Given the description of an element on the screen output the (x, y) to click on. 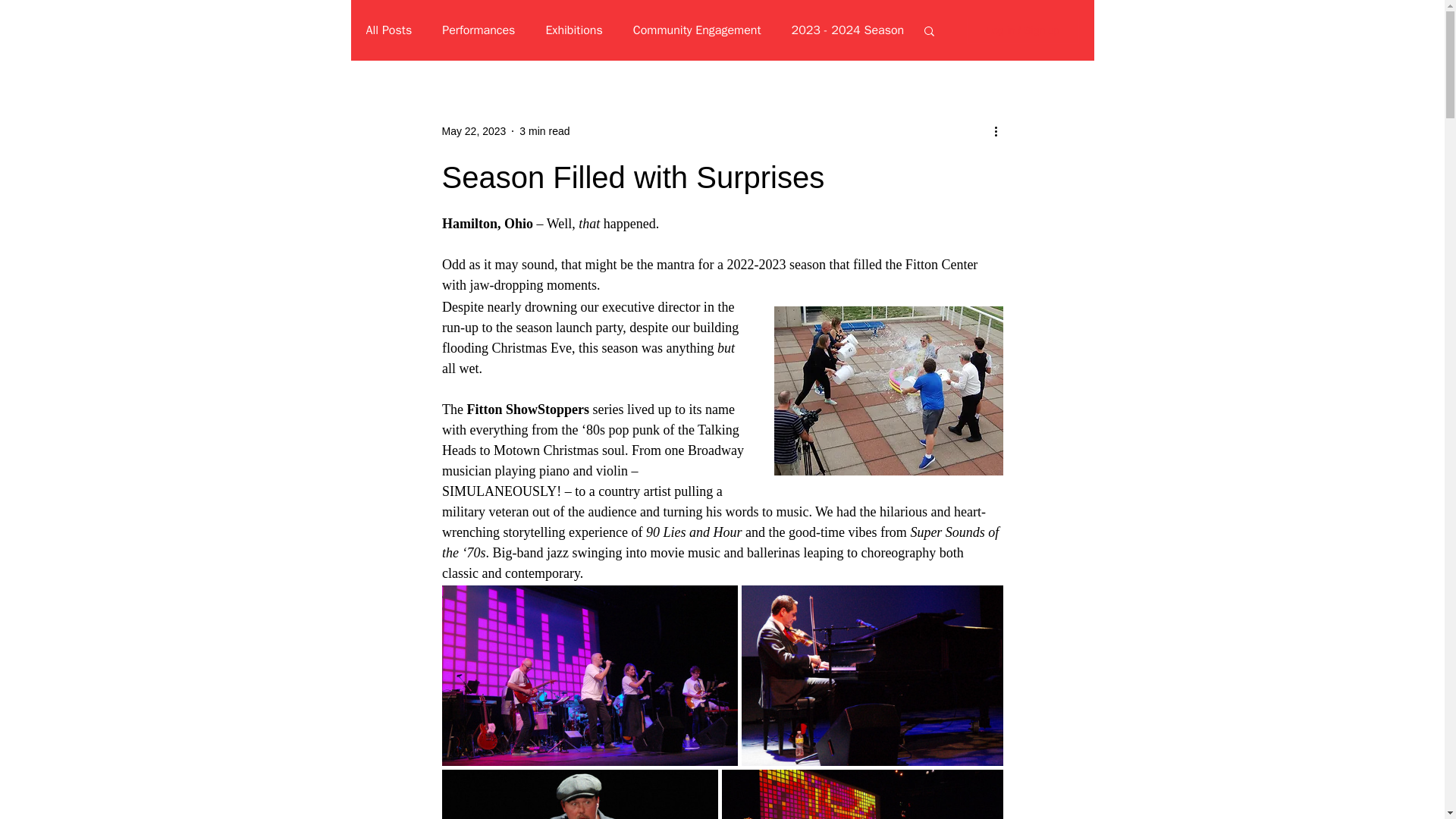
May 22, 2023 (473, 130)
3 min read (544, 130)
